Given the description of an element on the screen output the (x, y) to click on. 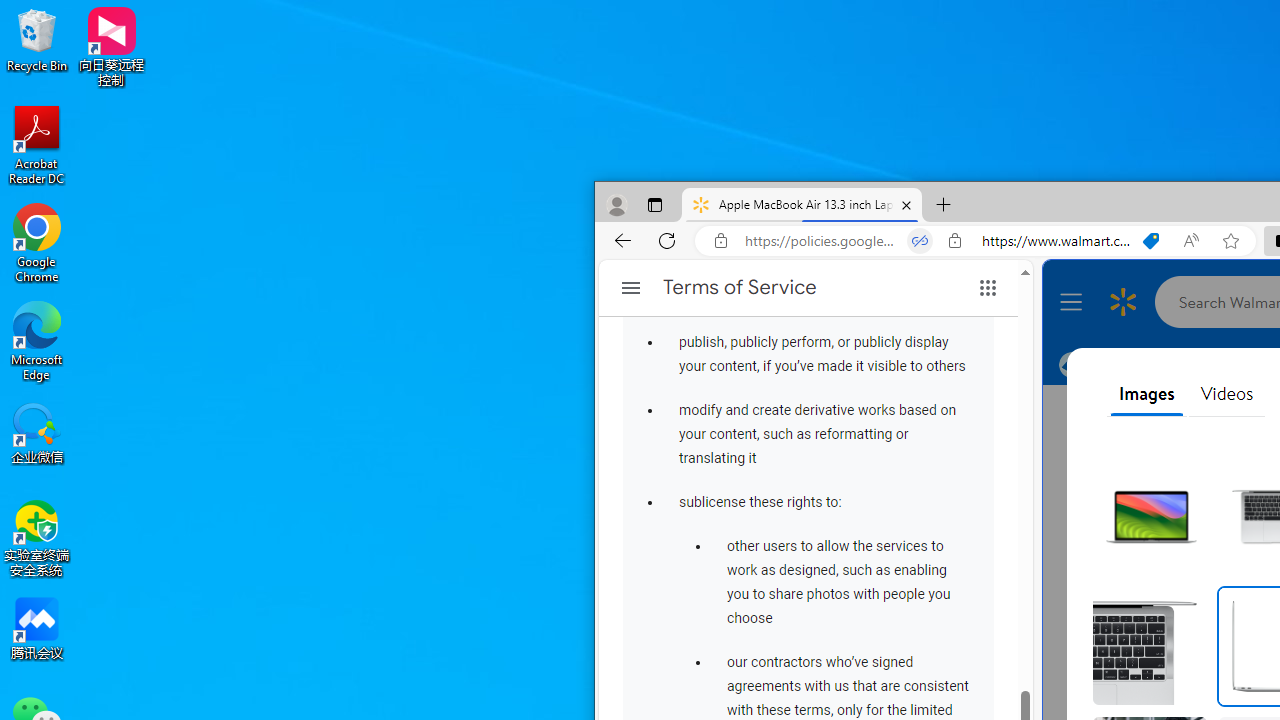
Google Chrome (37, 242)
This site has coupons! Shopping in Microsoft Edge, 7 (1151, 241)
Images (1146, 394)
Videos (1226, 394)
Acrobat Reader DC (37, 144)
Tabs in split screen (920, 241)
